Given the description of an element on the screen output the (x, y) to click on. 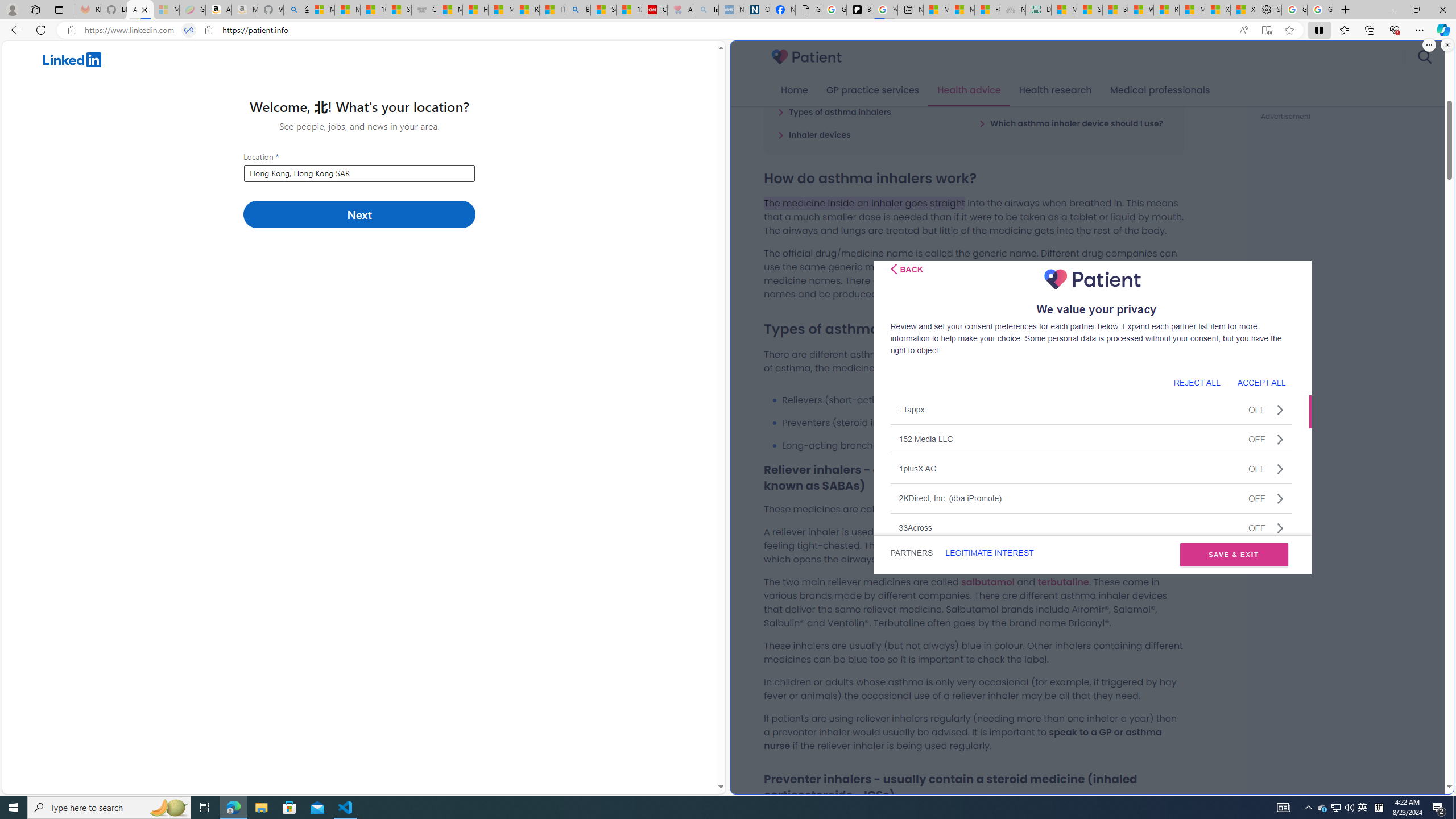
1plusX AGOFF (1090, 468)
Settings (1268, 9)
Microsoft account | Privacy (321, 9)
: TappxOFF (1090, 409)
Arthritis: Ask Health Professionals - Sleeping (679, 9)
Class: css-jswnc6 (1280, 527)
Asthma Inhalers: Names and Types (140, 9)
Copilot (Ctrl+Shift+.) (1442, 29)
Close split screen. (1447, 45)
Refresh (40, 29)
DITOGAMES AG Imprint (1037, 9)
Health advice (969, 90)
Collections (1369, 29)
